Given the description of an element on the screen output the (x, y) to click on. 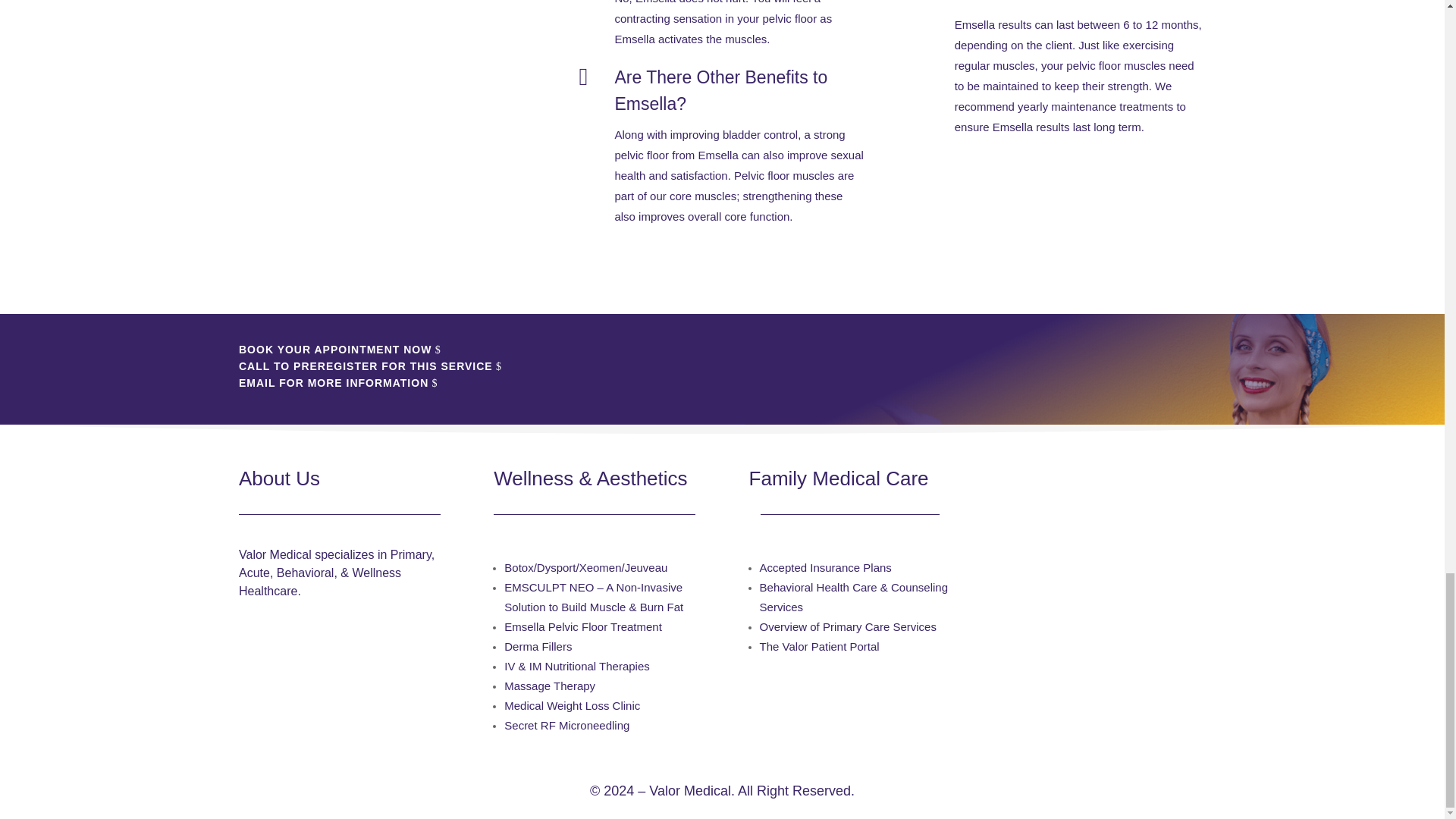
BOOK YOUR APPOINTMENT NOW (334, 350)
EMAIL FOR MORE INFORMATION (333, 383)
CALL TO PREREGISTER FOR THIS SERVICE (365, 366)
Emsella Pelvic Floor Treatment (582, 626)
